Given the description of an element on the screen output the (x, y) to click on. 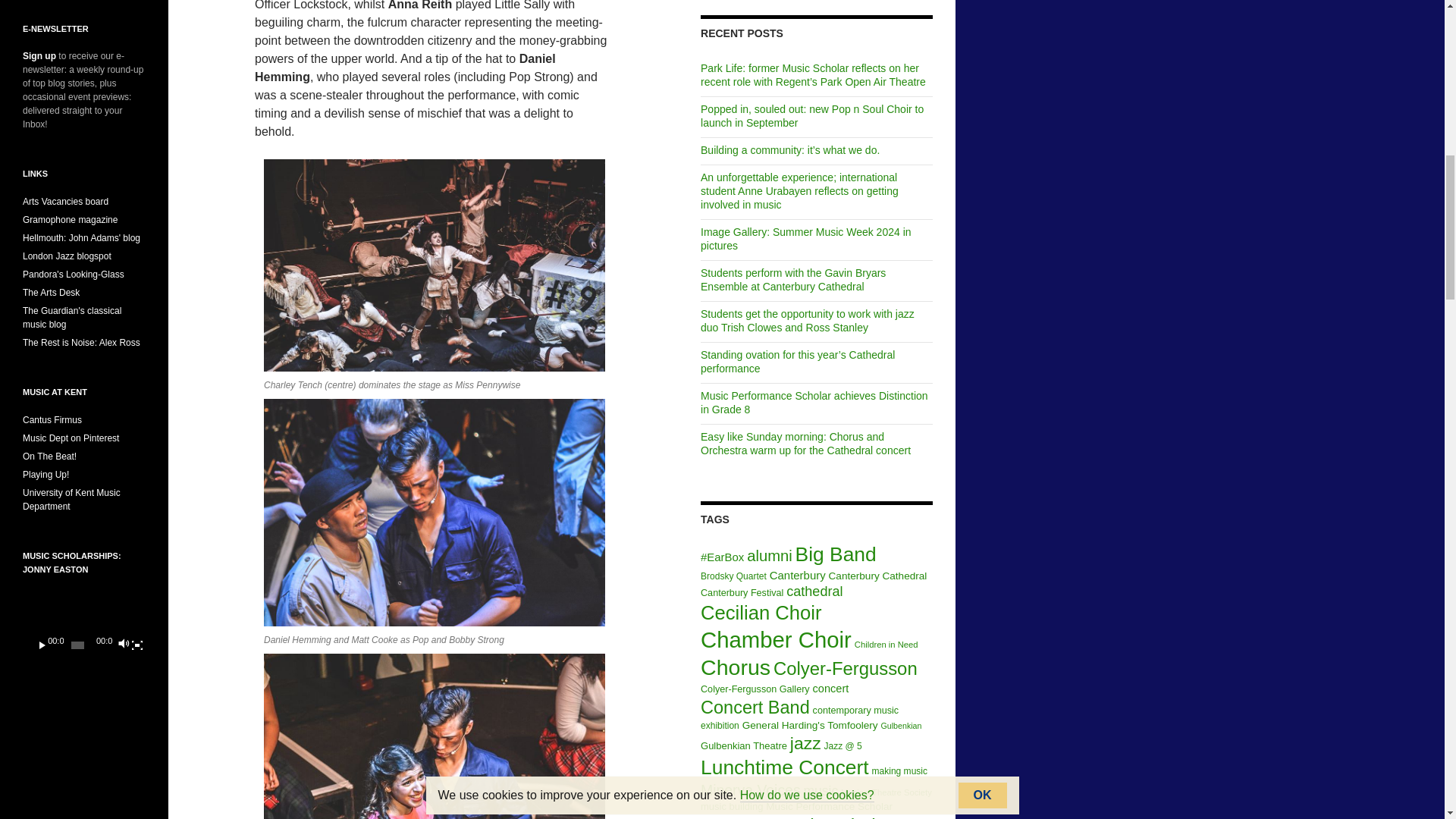
Classical music magazine (70, 219)
Current arts vacancies on our Pinterest board (65, 201)
Image Gallery: Summer Music Week 2024 in pictures (805, 238)
